Given the description of an element on the screen output the (x, y) to click on. 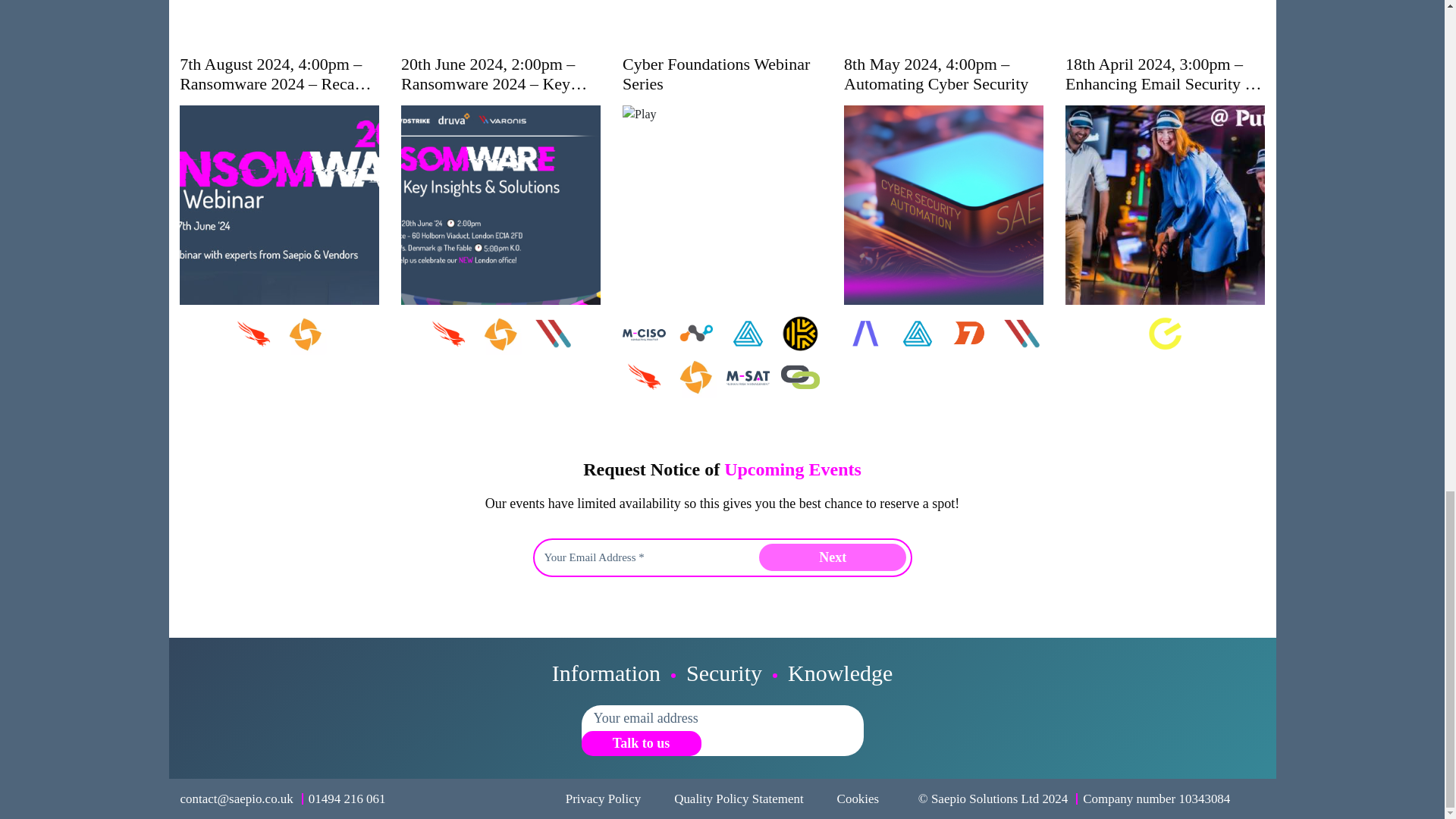
Next (831, 556)
Quality Policy Statement (738, 798)
Talk to us (640, 743)
Privacy Policy (603, 798)
Quality Policy Statement (738, 798)
Call Us (346, 798)
Privacy Policy (603, 798)
Next (831, 556)
Cookies (858, 798)
01494 216 061 (346, 798)
Talk to us (640, 743)
Mail Us (237, 798)
